Given the description of an element on the screen output the (x, y) to click on. 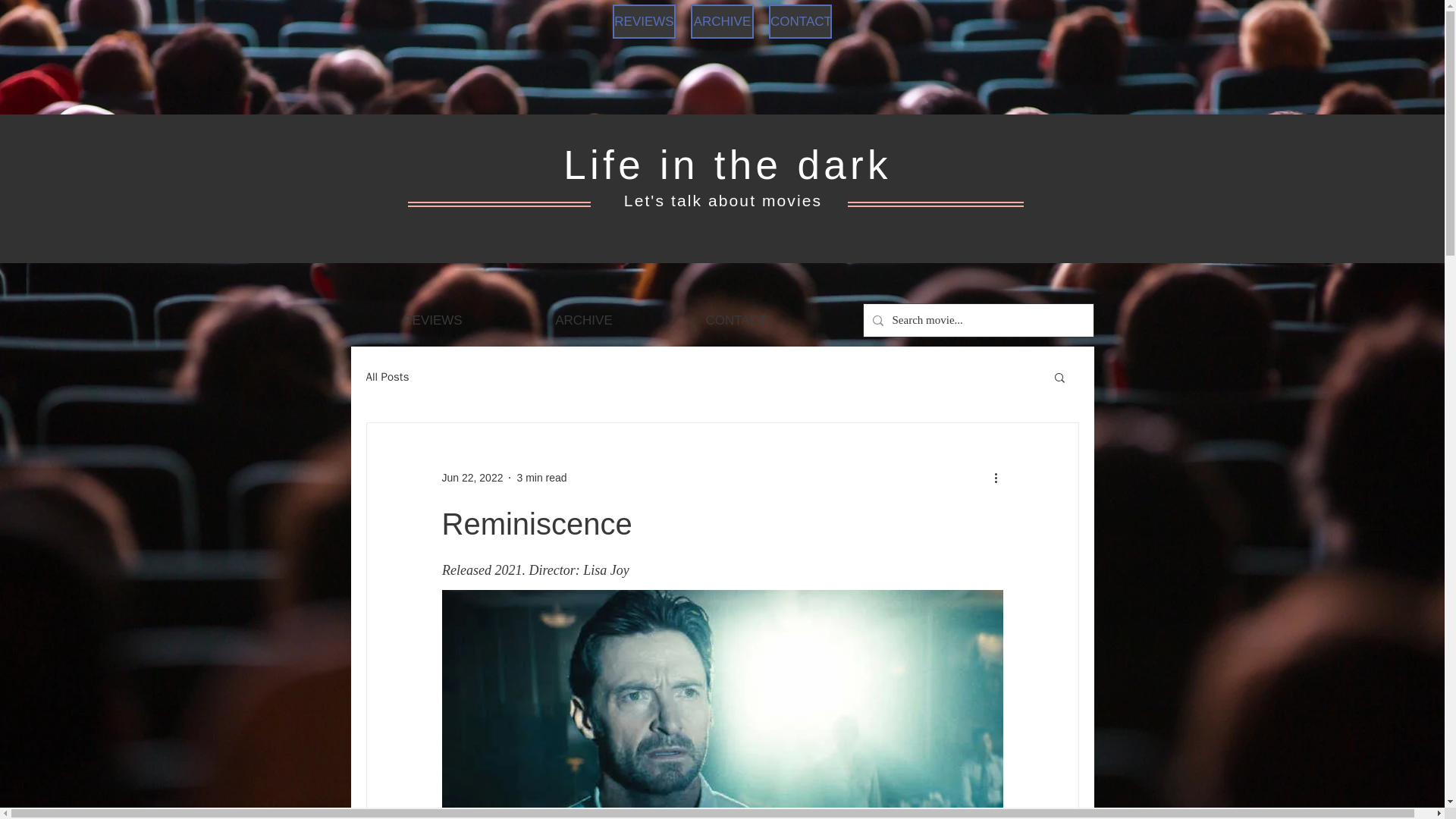
Jun 22, 2022 (471, 477)
Let's talk about movies (723, 200)
CONTACT (799, 21)
REVIEWS (432, 320)
Life in the dark (727, 164)
ARCHIVE (584, 320)
3 min read (541, 477)
REVIEWS (643, 21)
All Posts (387, 377)
ARCHIVE (722, 21)
CONTACT (735, 320)
